Given the description of an element on the screen output the (x, y) to click on. 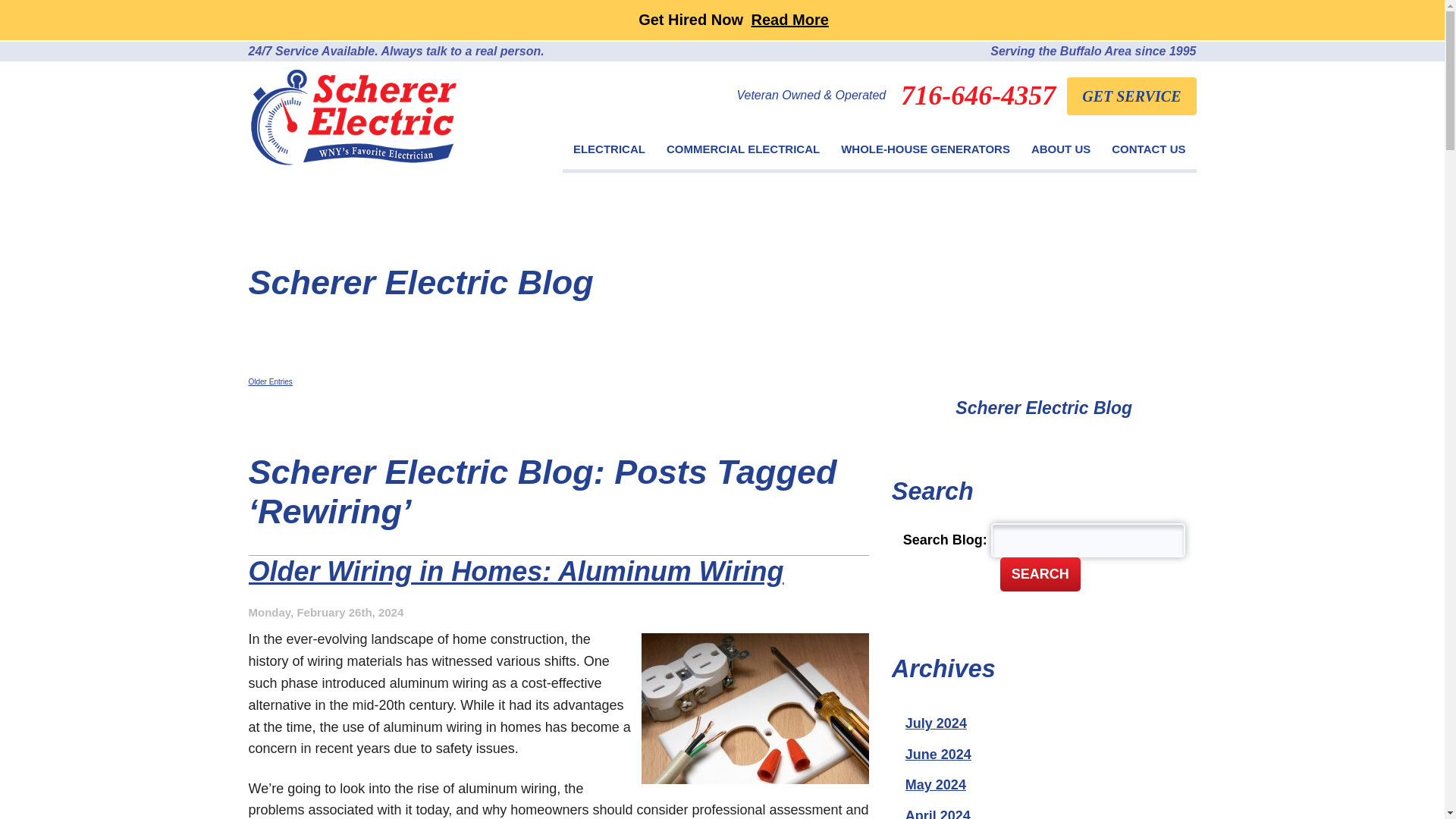
GET SERVICE (1131, 95)
ABOUT US (1060, 151)
716-646-4357 (978, 95)
COMMERCIAL ELECTRICAL (742, 151)
Permanent Link to Older Wiring in Homes: Aluminum Wiring (516, 571)
ELECTRICAL (609, 151)
WHOLE-HOUSE GENERATORS (924, 151)
